Given the description of an element on the screen output the (x, y) to click on. 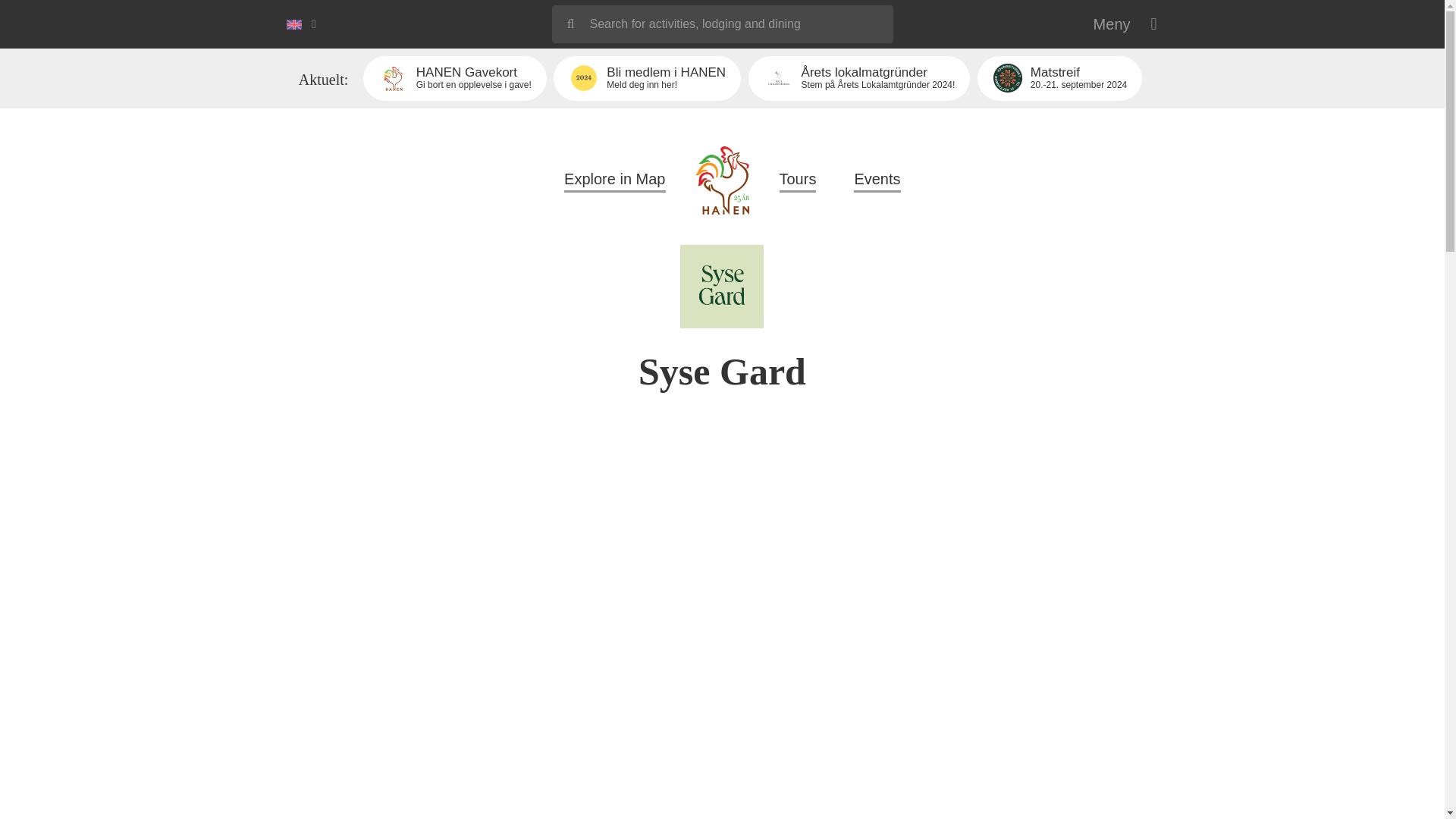
Meny (1125, 24)
Tours (1058, 78)
Events (647, 78)
Explore in Map (797, 180)
